Given the description of an element on the screen output the (x, y) to click on. 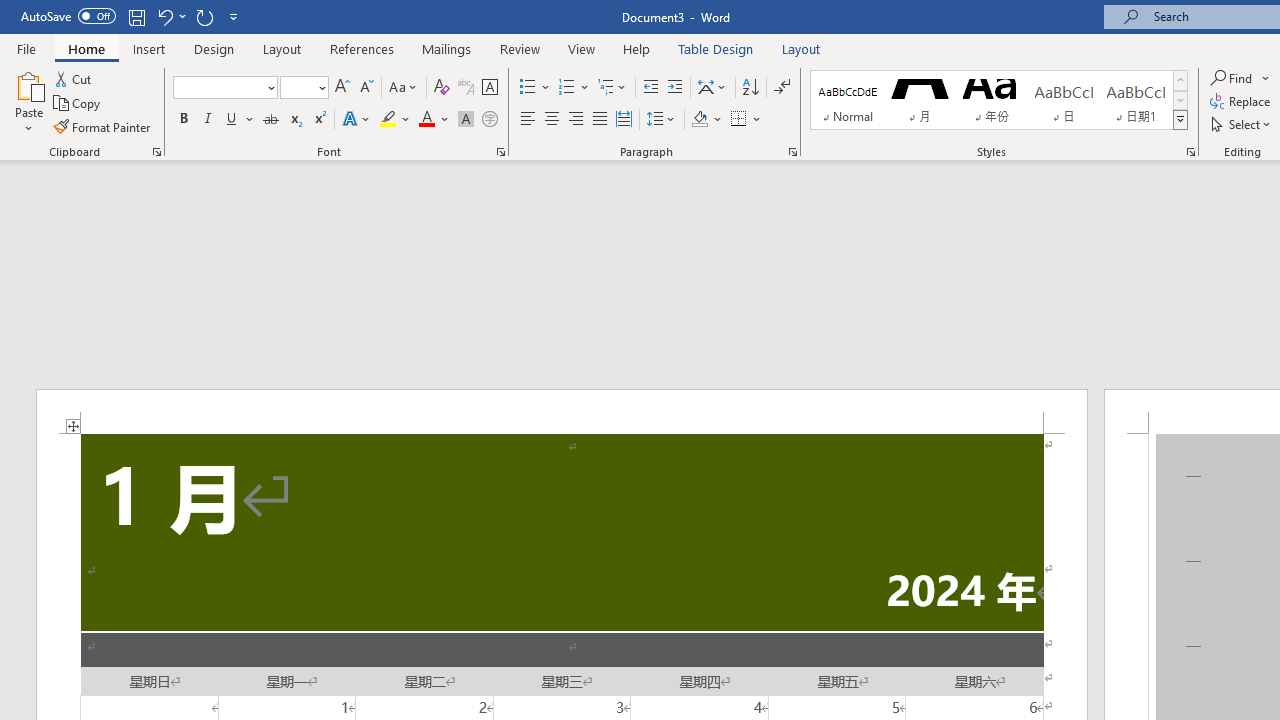
Align Right (575, 119)
Enclose Characters... (489, 119)
Text Highlight Color Yellow (388, 119)
Clear Formatting (442, 87)
Font... (500, 151)
Character Shading (465, 119)
Phonetic Guide... (465, 87)
Shading (706, 119)
Asian Layout (712, 87)
